Given the description of an element on the screen output the (x, y) to click on. 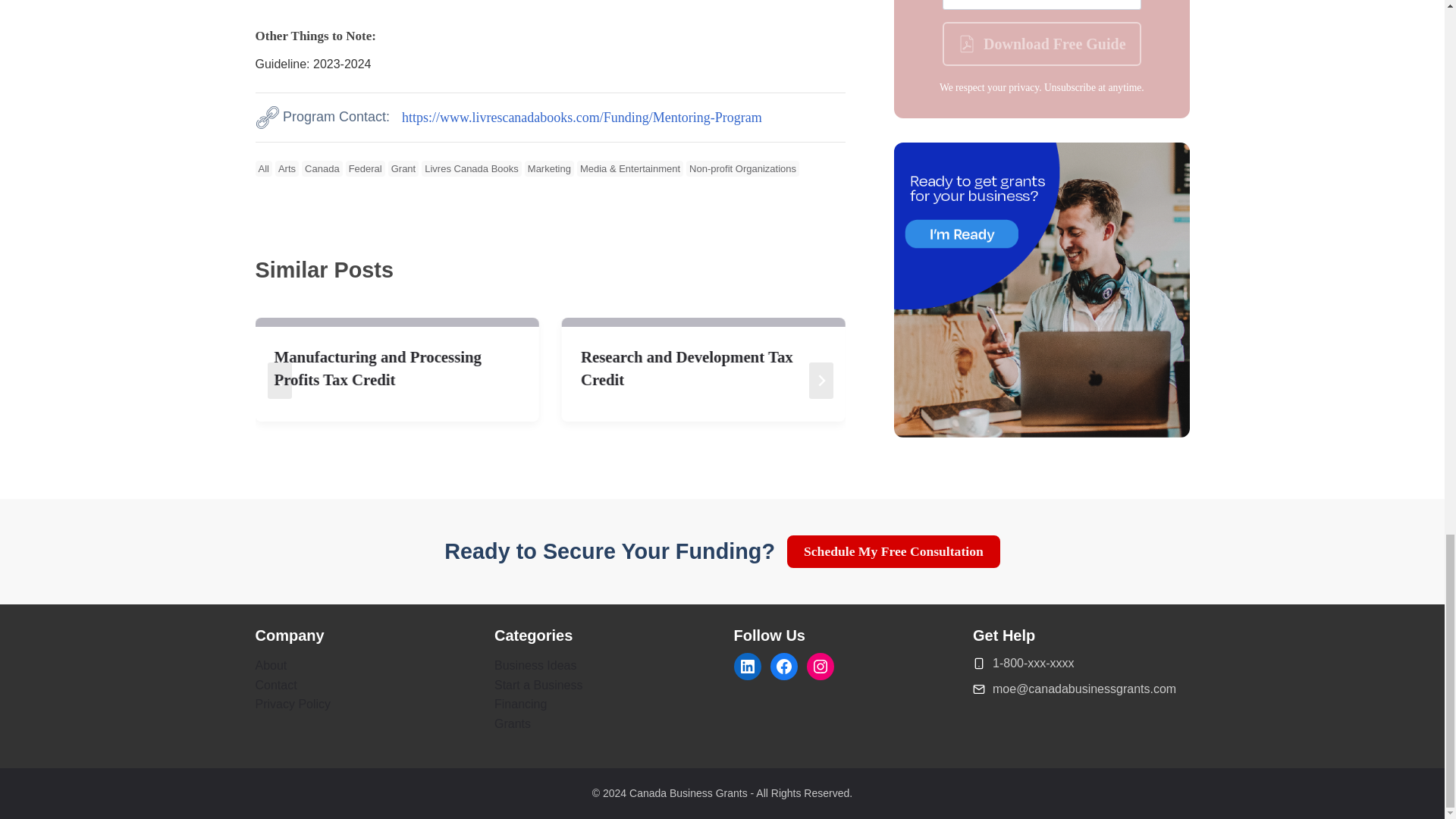
Research and Development Tax Credit (703, 368)
Marketing (548, 168)
Federal (365, 168)
All (262, 168)
Livres Canada Books (471, 168)
Schedule My Free Consultation (893, 551)
Canada (321, 168)
Arts (286, 168)
Grant (403, 168)
Non-profit Organizations (742, 168)
Manufacturing and Processing Profits Tax Credit (397, 368)
